Given the description of an element on the screen output the (x, y) to click on. 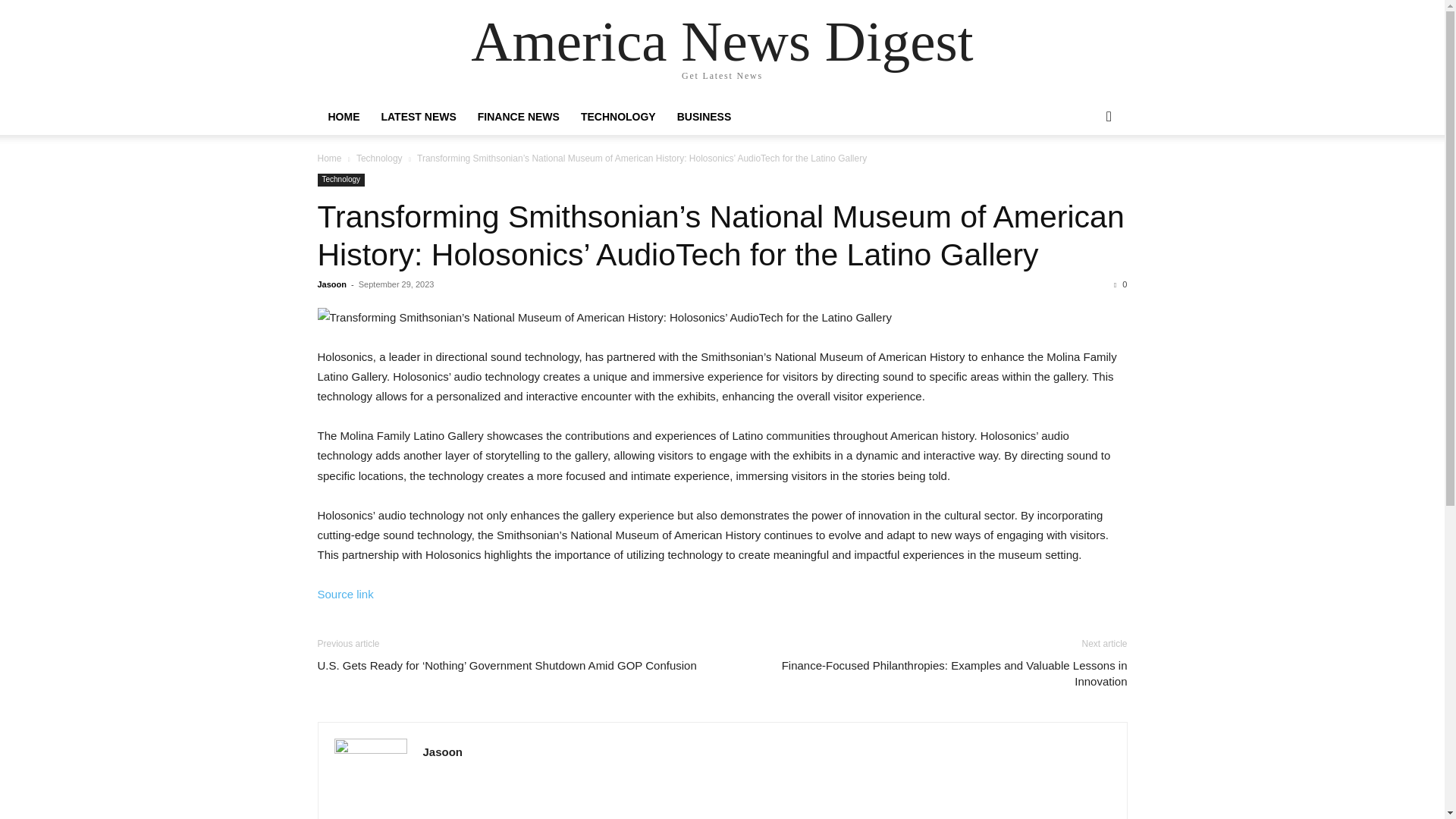
TECHNOLOGY (618, 116)
Technology (379, 158)
BUSINESS (704, 116)
Jasoon (331, 284)
View all posts in Technology (379, 158)
Technology (341, 179)
0 (1119, 284)
Source link (344, 594)
FINANCE NEWS (518, 116)
Home (328, 158)
America News Digest (721, 41)
Jasoon (443, 751)
LATEST NEWS (417, 116)
Search (1085, 177)
